Given the description of an element on the screen output the (x, y) to click on. 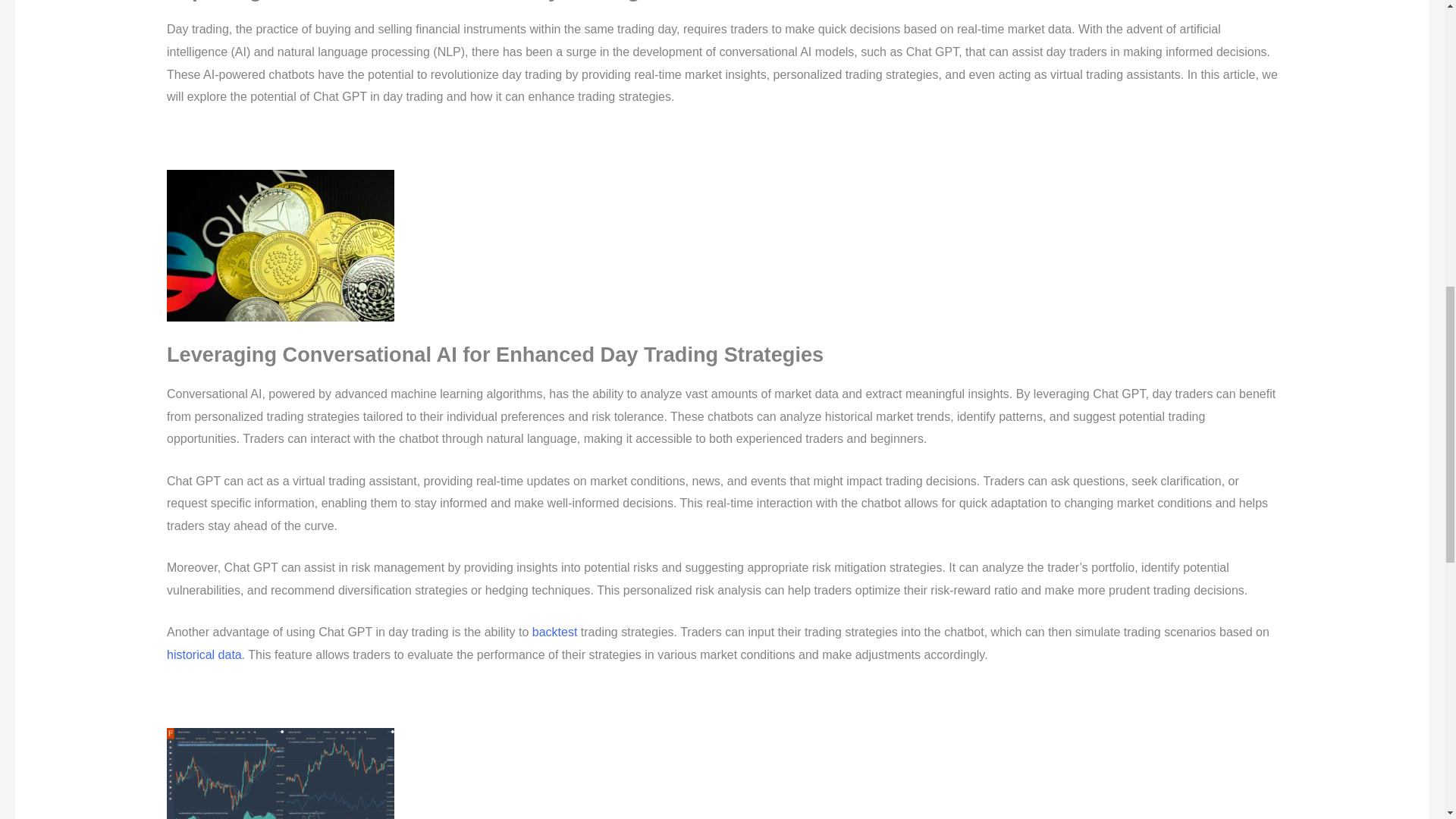
backtest (555, 631)
historical data (204, 654)
